Given the description of an element on the screen output the (x, y) to click on. 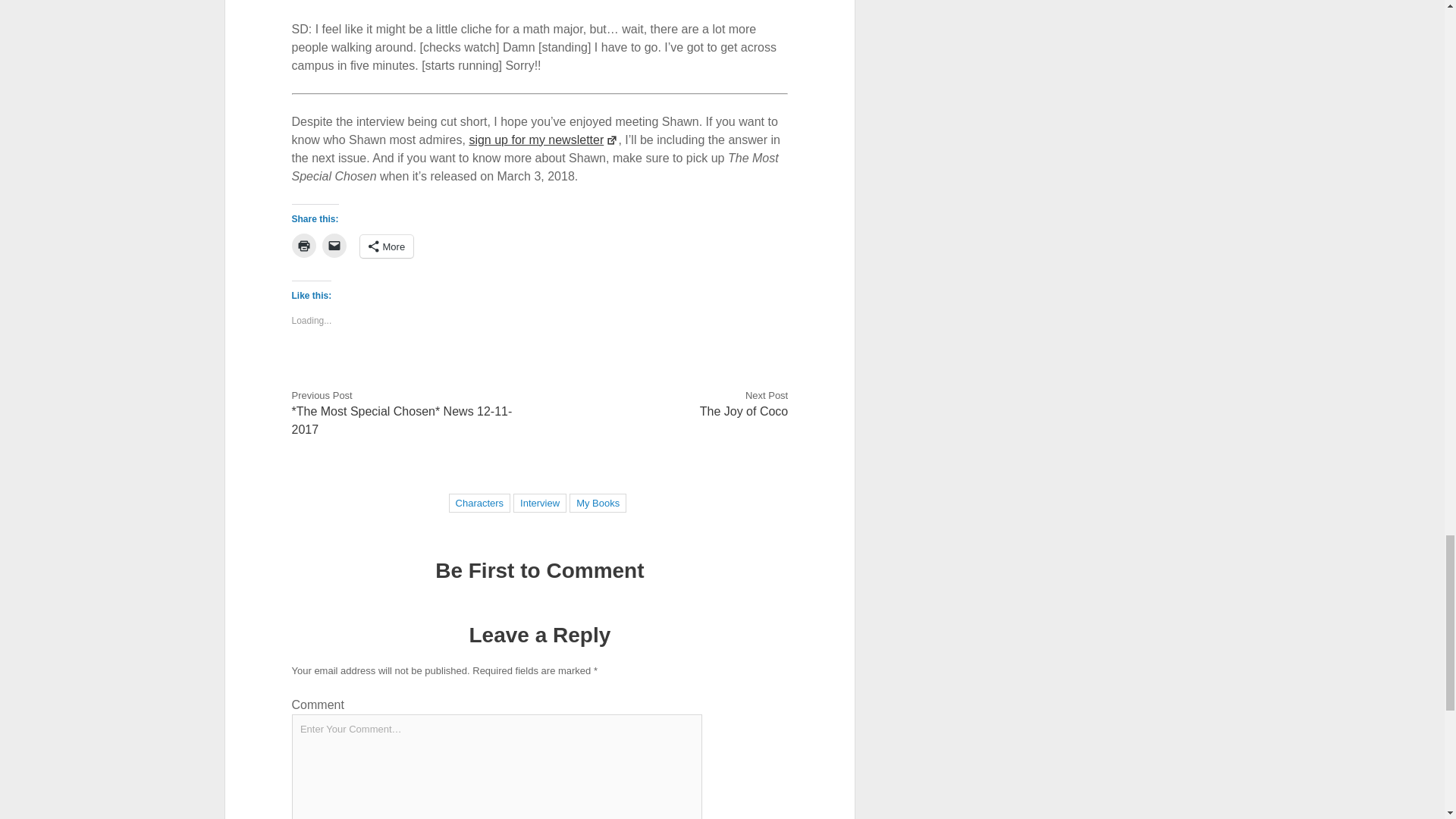
The Joy of Coco (744, 410)
Characters (480, 502)
sign up for my newsletter (542, 139)
Click to email a link to a friend (333, 245)
Click to print (303, 245)
My Books (598, 502)
Interview (539, 502)
More (386, 246)
